Given the description of an element on the screen output the (x, y) to click on. 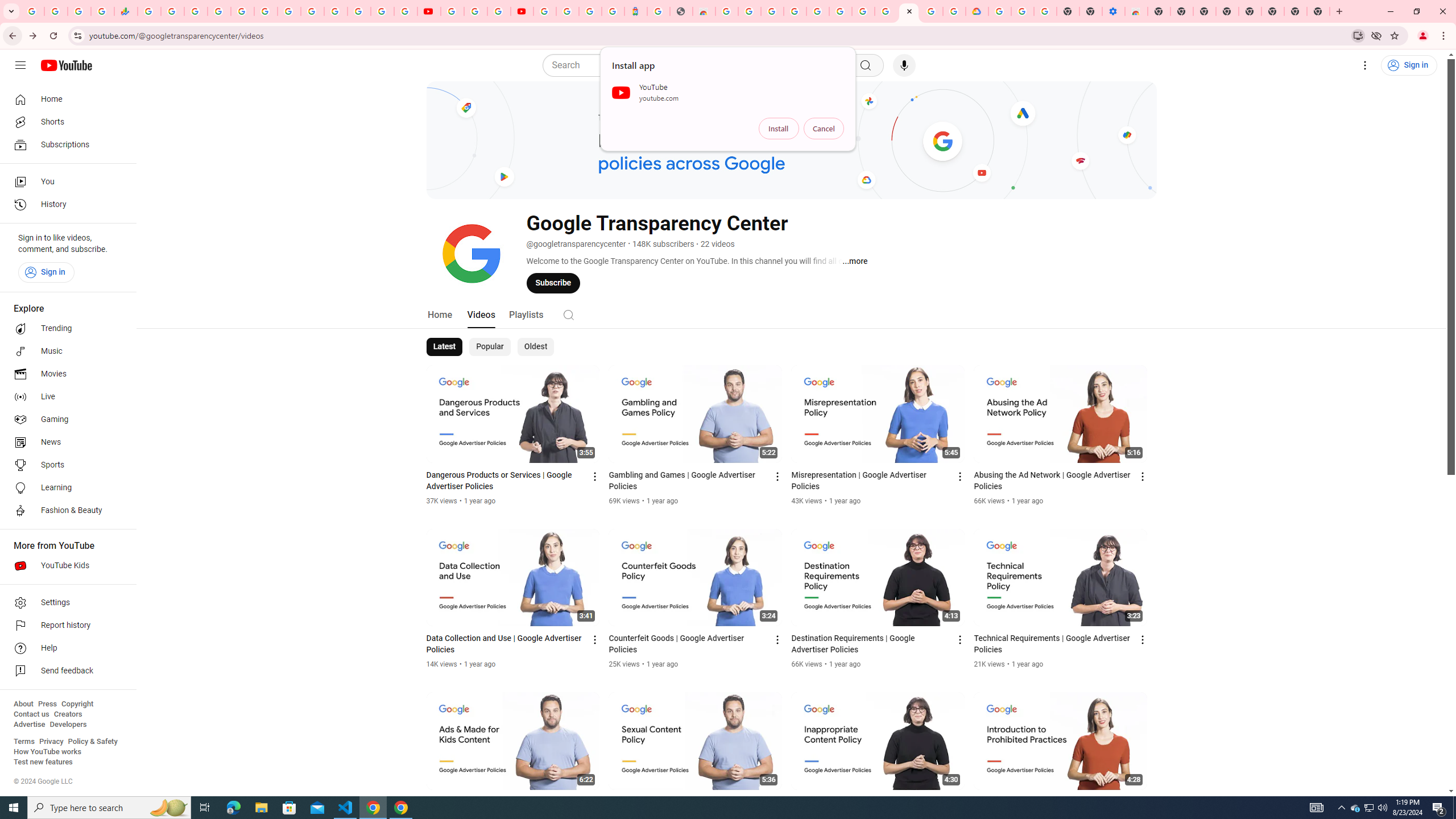
Movies (64, 373)
Install YouTube (1358, 35)
Fashion & Beauty (64, 510)
Test new features (42, 761)
Chrome Web Store - Household (703, 11)
Creators (67, 714)
Music (64, 350)
History (64, 204)
Subscriptions (64, 144)
Privacy (51, 741)
Create your Google Account (498, 11)
Ad Settings (794, 11)
